Given the description of an element on the screen output the (x, y) to click on. 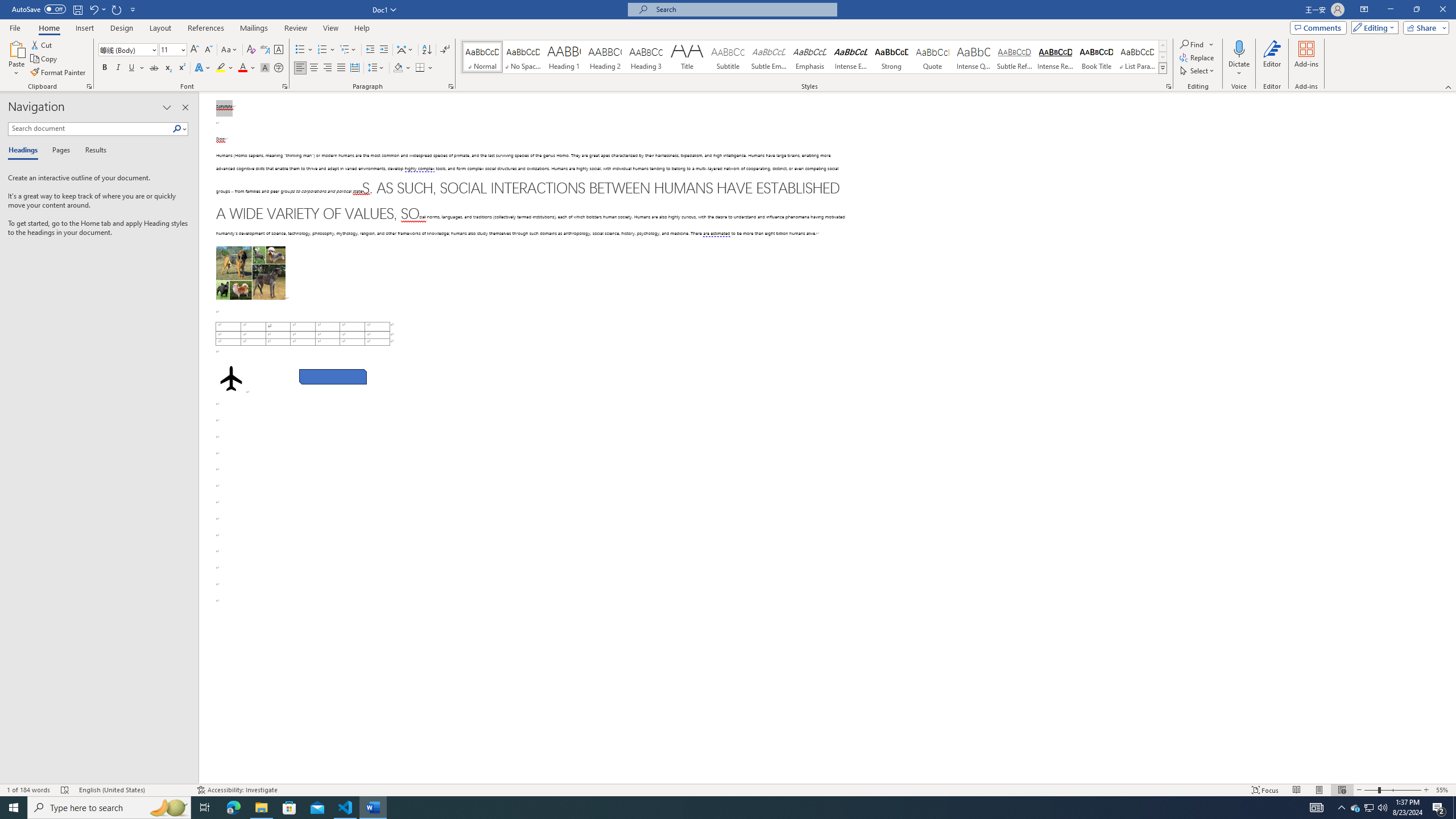
Intense Quote (973, 56)
Paste (16, 48)
Search (179, 128)
Shrink Font (208, 49)
Character Shading (264, 67)
Grow Font (193, 49)
Paragraph... (450, 85)
Borders (419, 67)
Line and Paragraph Spacing (376, 67)
Task Pane Options (167, 107)
Class: NetUIScrollBar (1450, 437)
Change Case (229, 49)
Class: MsoCommandBar (728, 789)
Microsoft search (742, 9)
